Given the description of an element on the screen output the (x, y) to click on. 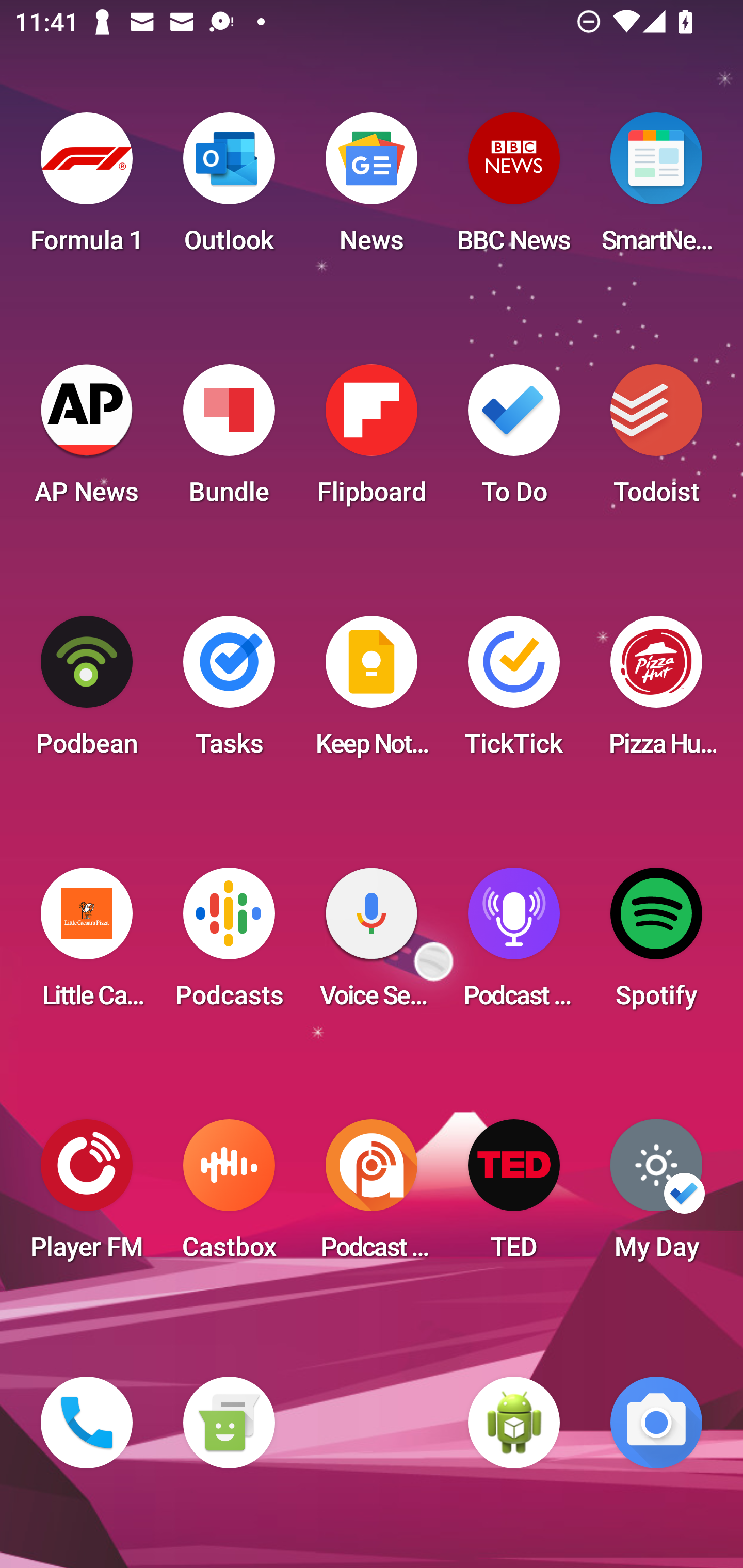
Formula 1 (86, 188)
Outlook (228, 188)
News (371, 188)
BBC News (513, 188)
SmartNews (656, 188)
AP News (86, 440)
Bundle (228, 440)
Flipboard (371, 440)
To Do (513, 440)
Todoist (656, 440)
Podbean (86, 692)
Tasks (228, 692)
Keep Notes (371, 692)
TickTick (513, 692)
Pizza Hut HK & Macau (656, 692)
Little Caesars Pizza (86, 943)
Podcasts (228, 943)
Voice Search (371, 943)
Podcast Player (513, 943)
Spotify (656, 943)
Player FM (86, 1195)
Castbox (228, 1195)
Podcast Addict (371, 1195)
TED (513, 1195)
My Day (656, 1195)
Phone (86, 1422)
Messaging (228, 1422)
WebView Browser Tester (513, 1422)
Camera (656, 1422)
